Given the description of an element on the screen output the (x, y) to click on. 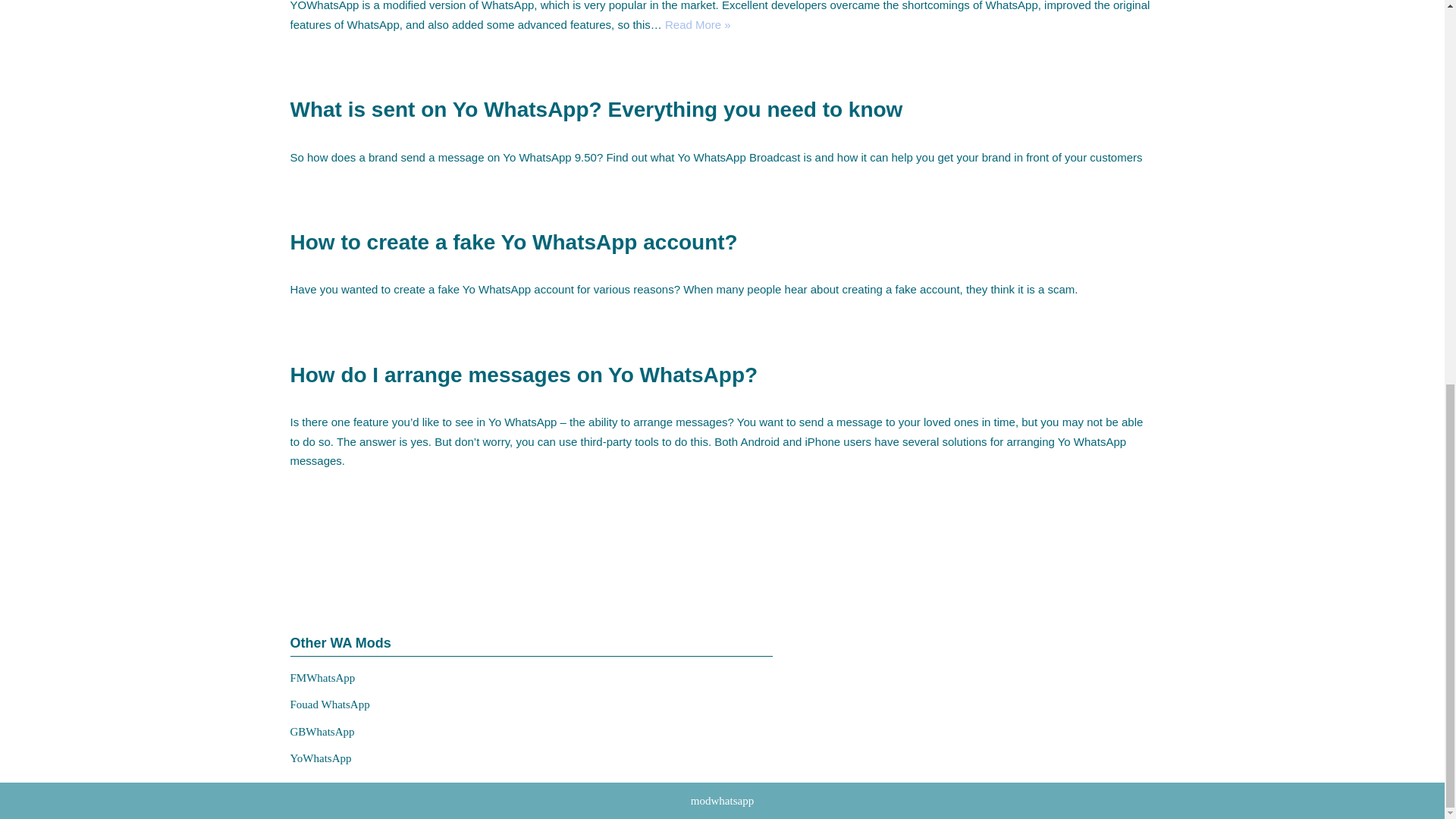
YoWhatsApp (319, 758)
Fouad WhatsApp (329, 704)
modwhatsapp (722, 799)
What is sent on Yo WhatsApp? Everything you need to know (595, 109)
How to create a fake Yo WhatsApp account? (512, 241)
How do I arrange messages on Yo WhatsApp? (523, 374)
FMWhatsApp (322, 676)
GBWhatsApp (321, 731)
